Given the description of an element on the screen output the (x, y) to click on. 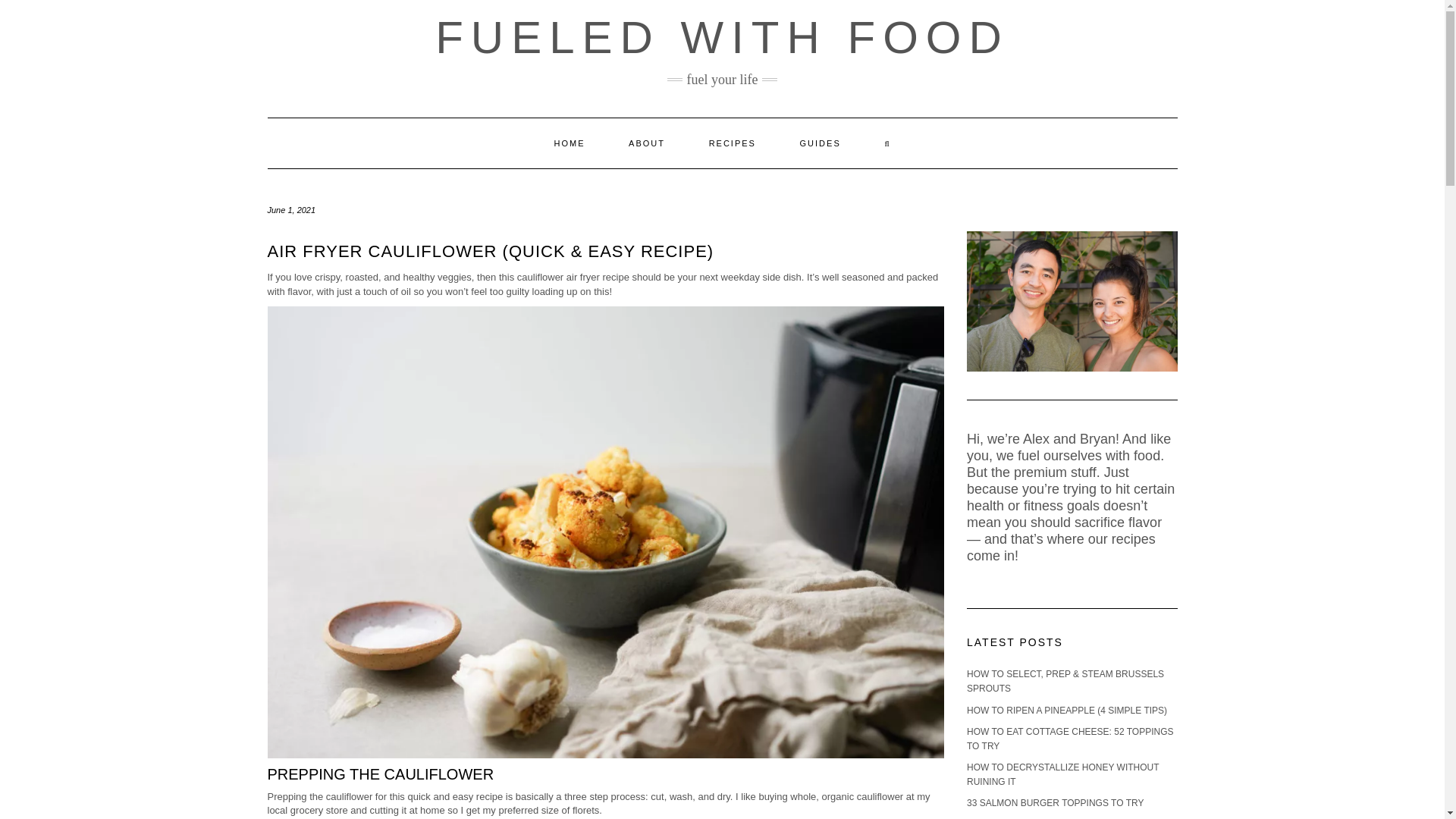
ABOUT (646, 142)
FUELED WITH FOOD (722, 37)
HOW TO EAT COTTAGE CHEESE: 52 TOPPINGS TO TRY (1069, 738)
RECIPES (732, 142)
HOME (568, 142)
33 SALMON BURGER TOPPINGS TO TRY (1054, 802)
HOW TO DECRYSTALLIZE HONEY WITHOUT RUINING IT (1062, 774)
GUIDES (819, 142)
